Given the description of an element on the screen output the (x, y) to click on. 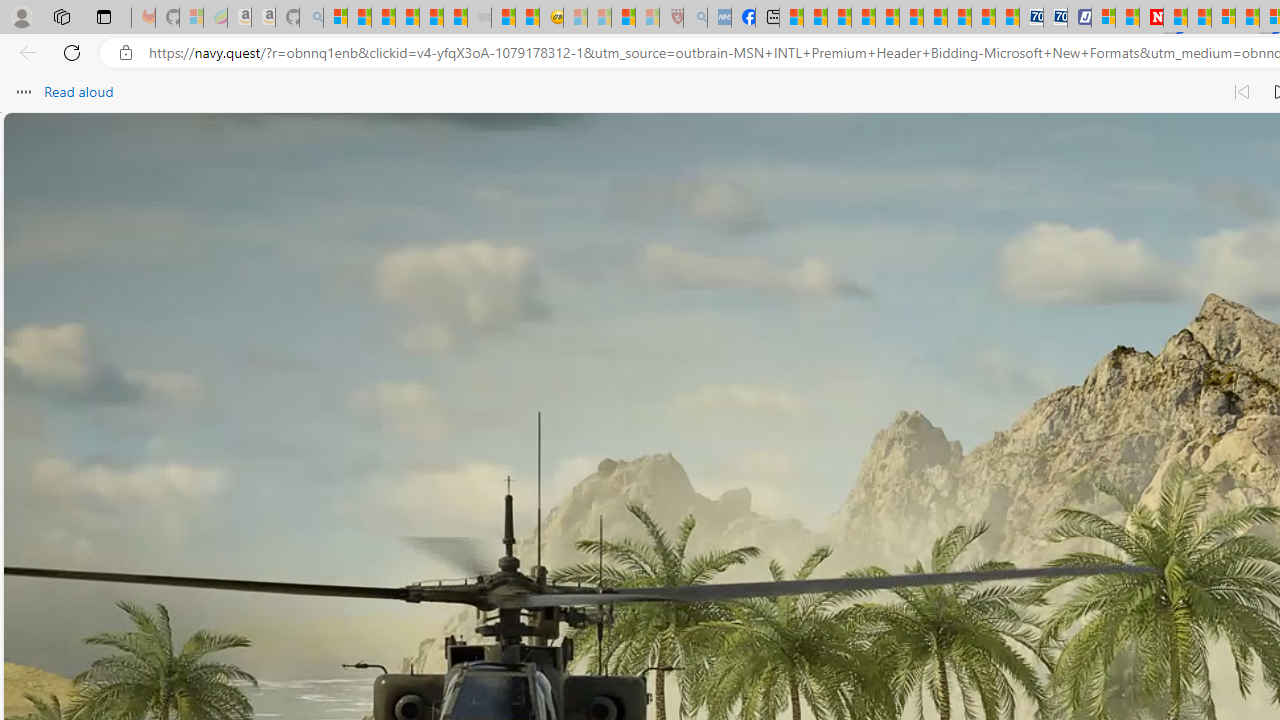
Combat Siege - Sleeping (479, 17)
